Given the description of an element on the screen output the (x, y) to click on. 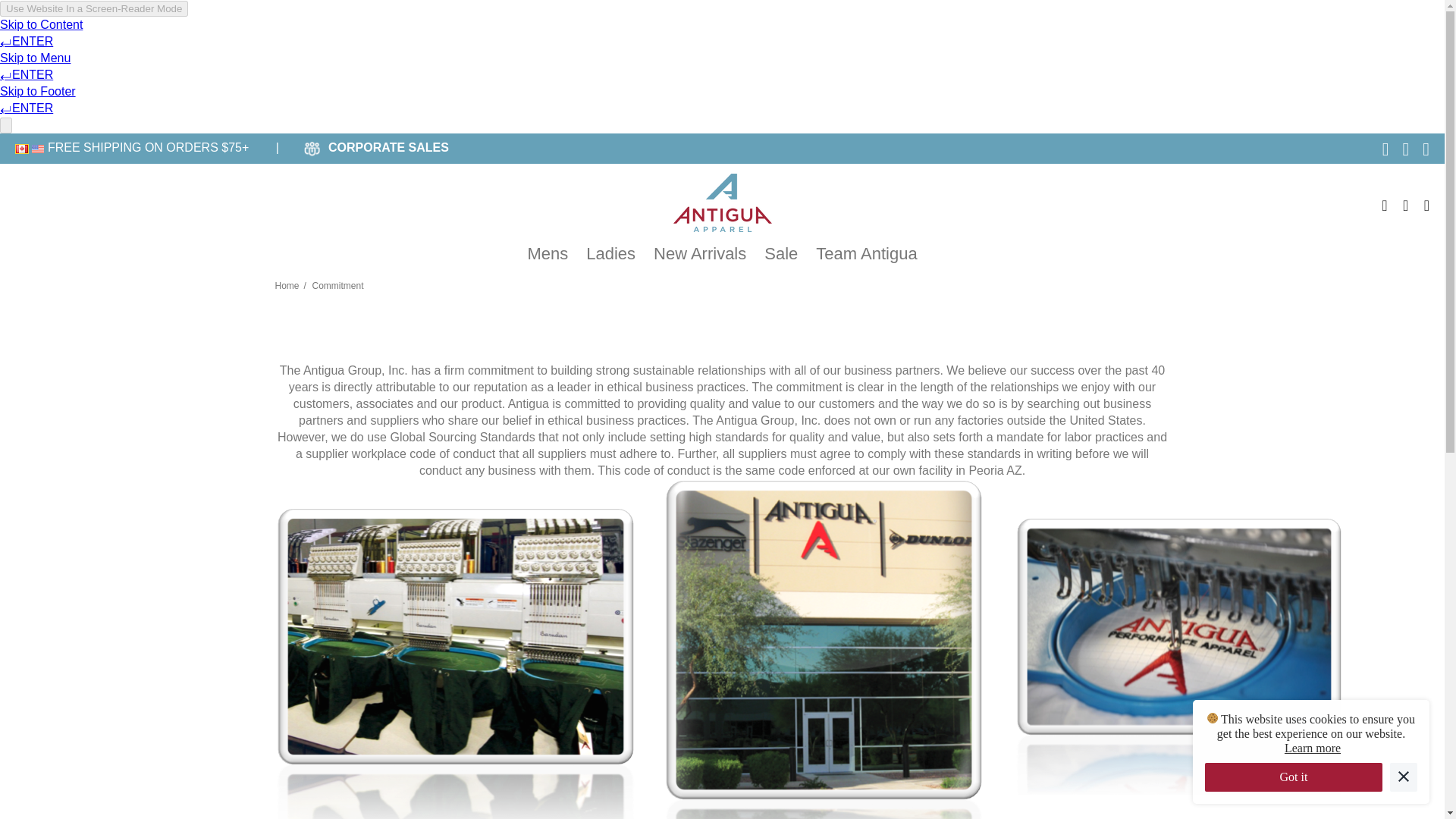
CORPORATE SALES (388, 146)
